Given the description of an element on the screen output the (x, y) to click on. 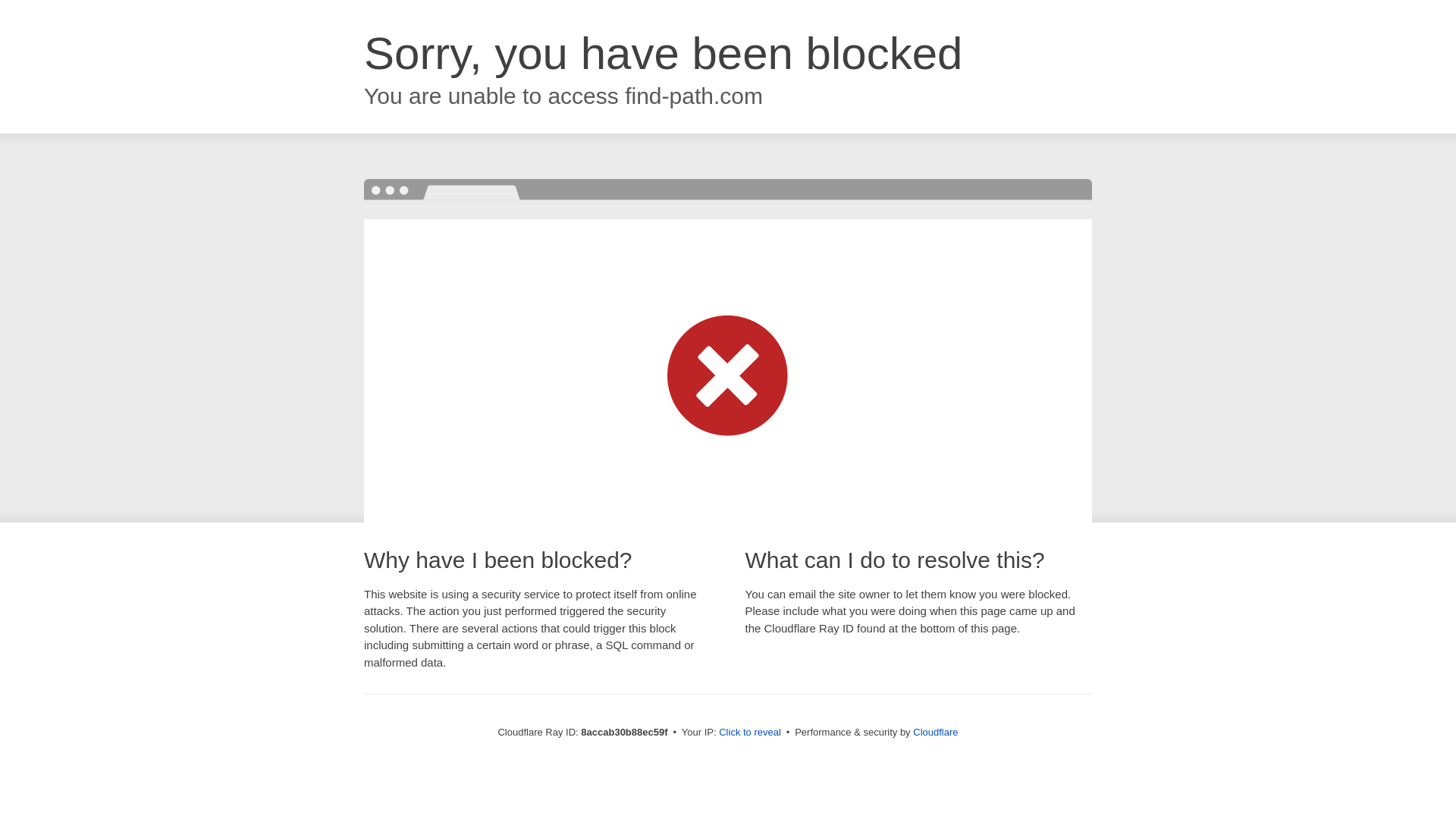
Cloudflare (935, 731)
Click to reveal (749, 732)
